Given the description of an element on the screen output the (x, y) to click on. 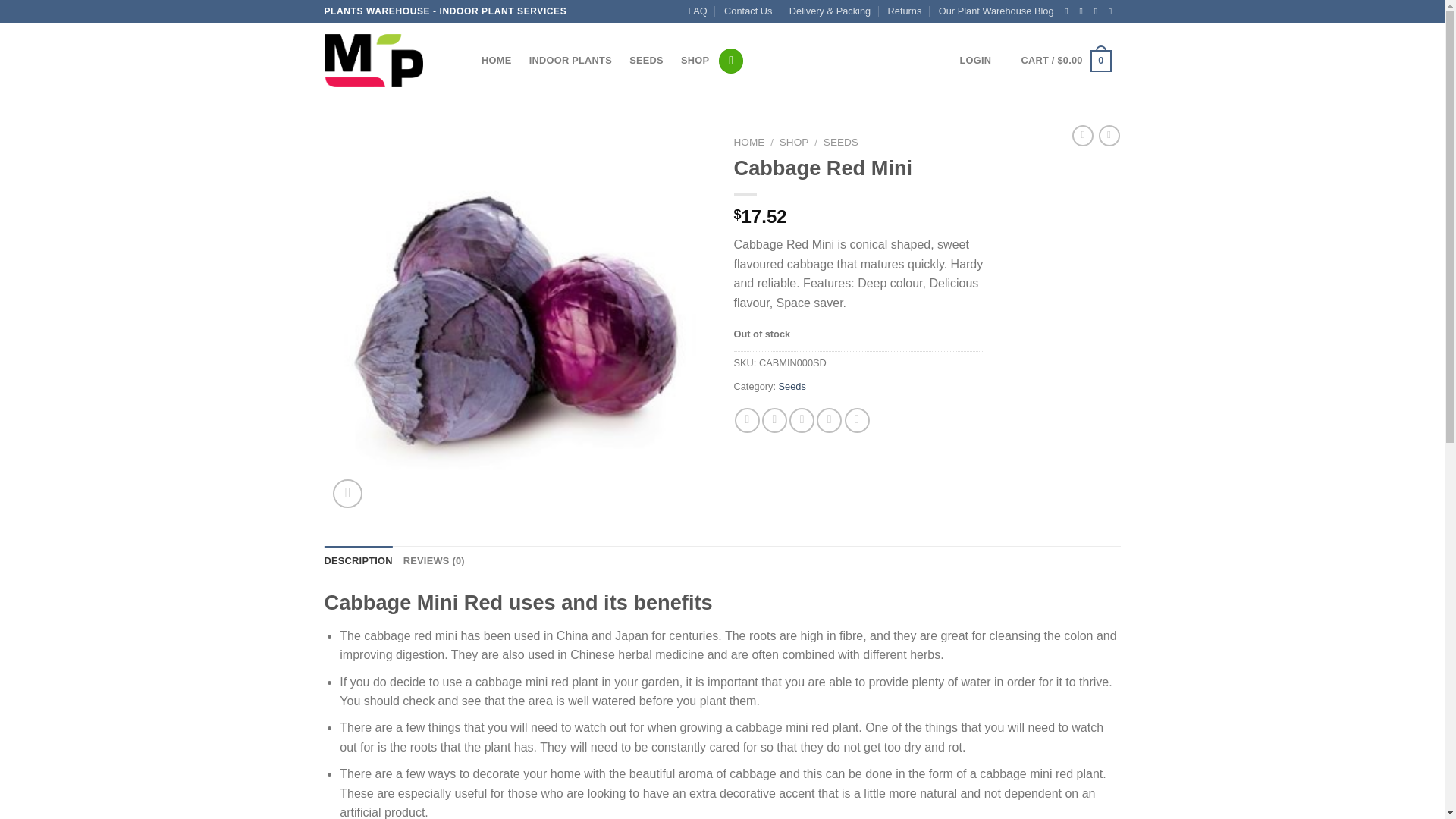
LOGIN (975, 60)
HOME (749, 142)
INDOOR PLANTS (569, 60)
Returns (904, 11)
SHOP (793, 142)
SEEDS (646, 60)
SHOP (694, 60)
Contact Us (747, 11)
SEEDS (841, 142)
Cart (1066, 60)
Our Plant Warehouse Blog (996, 11)
Seeds (792, 386)
HOME (497, 60)
